Given the description of an element on the screen output the (x, y) to click on. 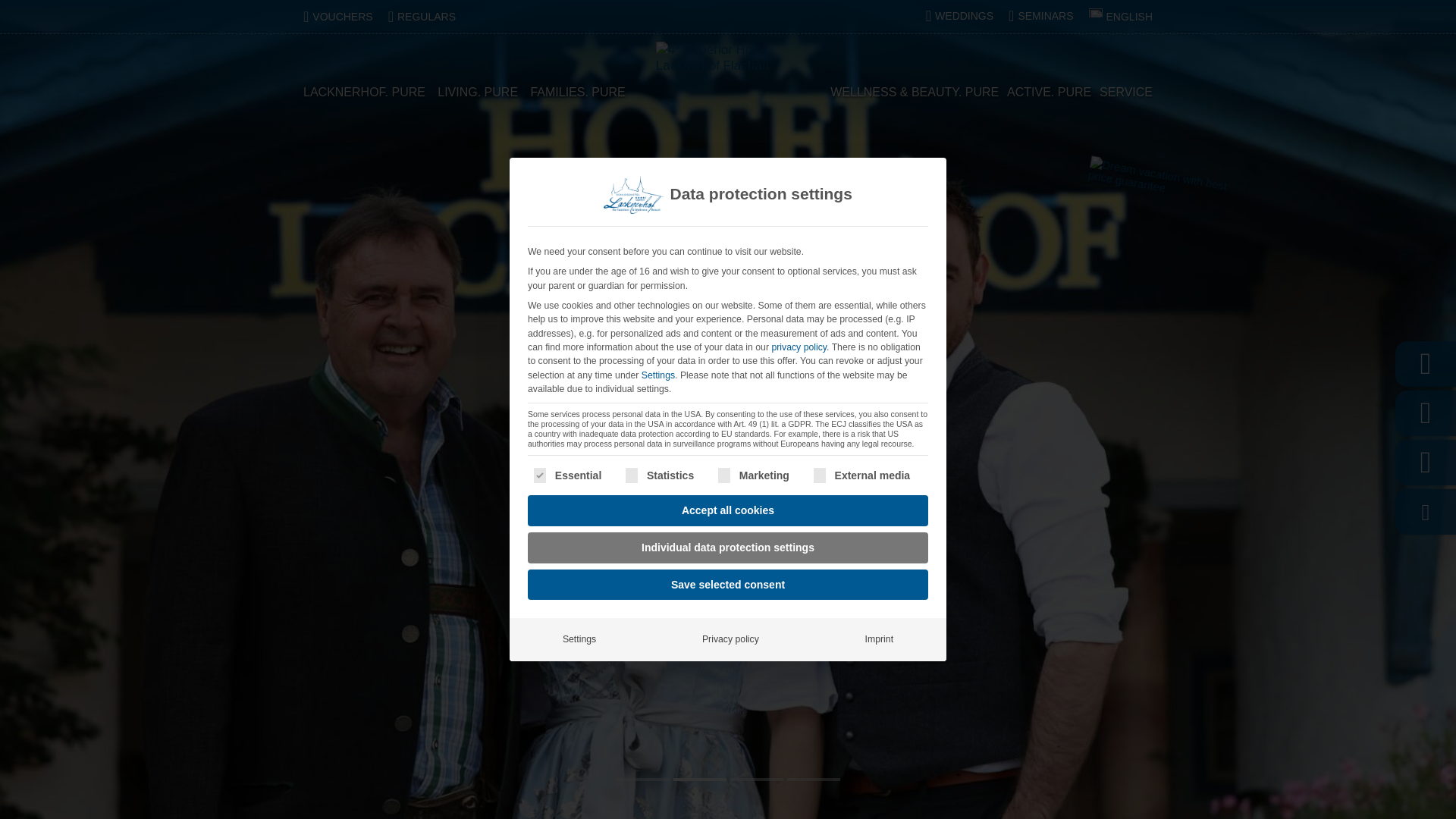
book now (1141, 231)
ENGLISH (1121, 16)
LIVING. PURE (478, 92)
SEMINARS (1041, 15)
LACKNERHOF. PURE (363, 92)
VOUCHERS (337, 16)
WEDDINGS (959, 15)
REGULARS (421, 16)
FAMILIES. PURE (576, 92)
ACTIVE. PURE (1048, 92)
English (1121, 16)
